Given the description of an element on the screen output the (x, y) to click on. 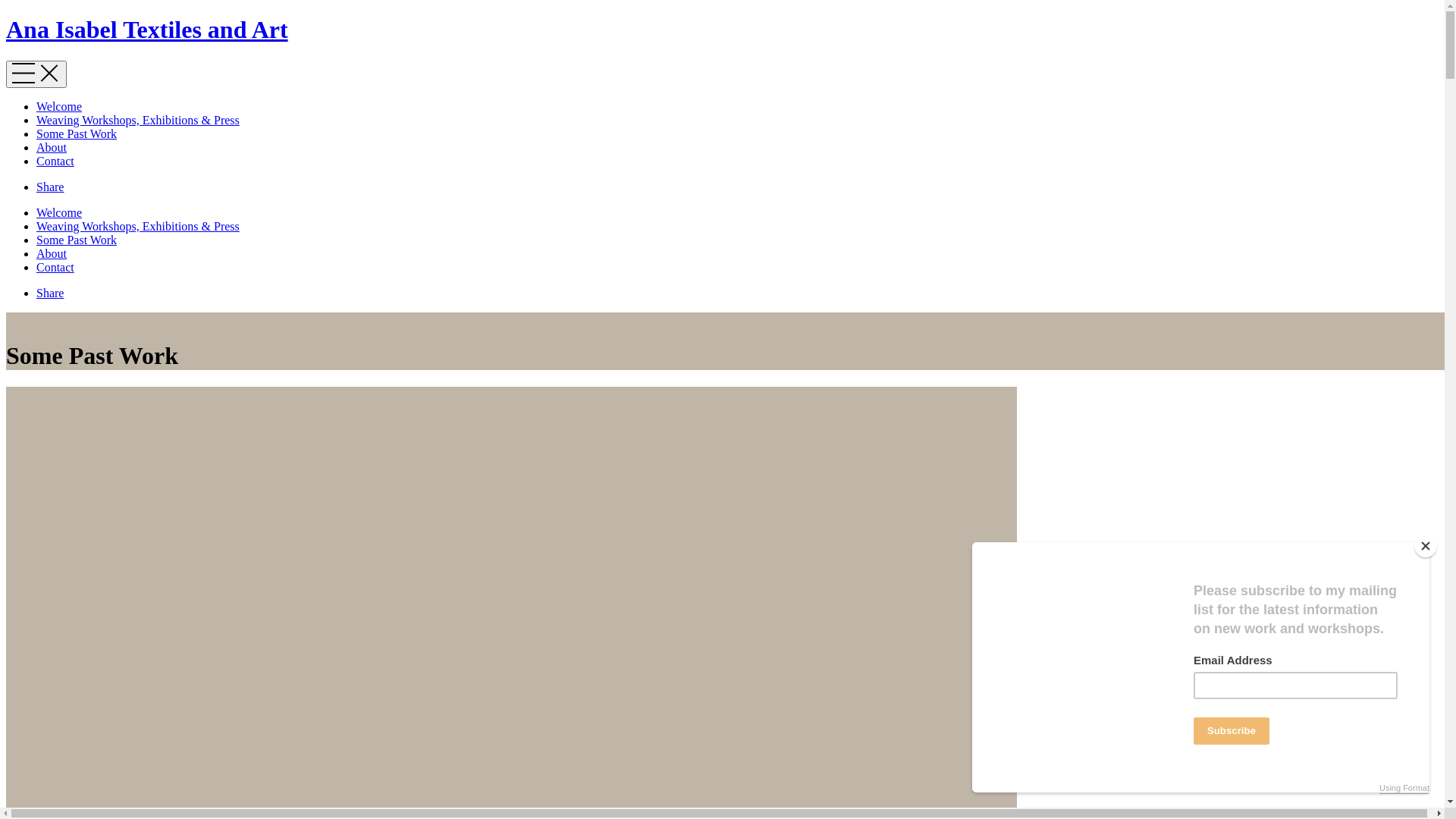
Share Element type: text (49, 186)
Weaving Workshops, Exhibitions & Press Element type: text (137, 119)
About Element type: text (51, 147)
Weaving Workshops, Exhibitions & Press Element type: text (137, 225)
Using Format Element type: text (1404, 788)
Contact Element type: text (55, 160)
Ana Isabel Textiles and Art Element type: text (728, 29)
Share Element type: text (49, 292)
Contact Element type: text (55, 266)
About Element type: text (51, 253)
Welcome Element type: text (58, 106)
Welcome Element type: text (58, 212)
Some Past Work Element type: text (76, 133)
Some Past Work Element type: text (76, 239)
